Given the description of an element on the screen output the (x, y) to click on. 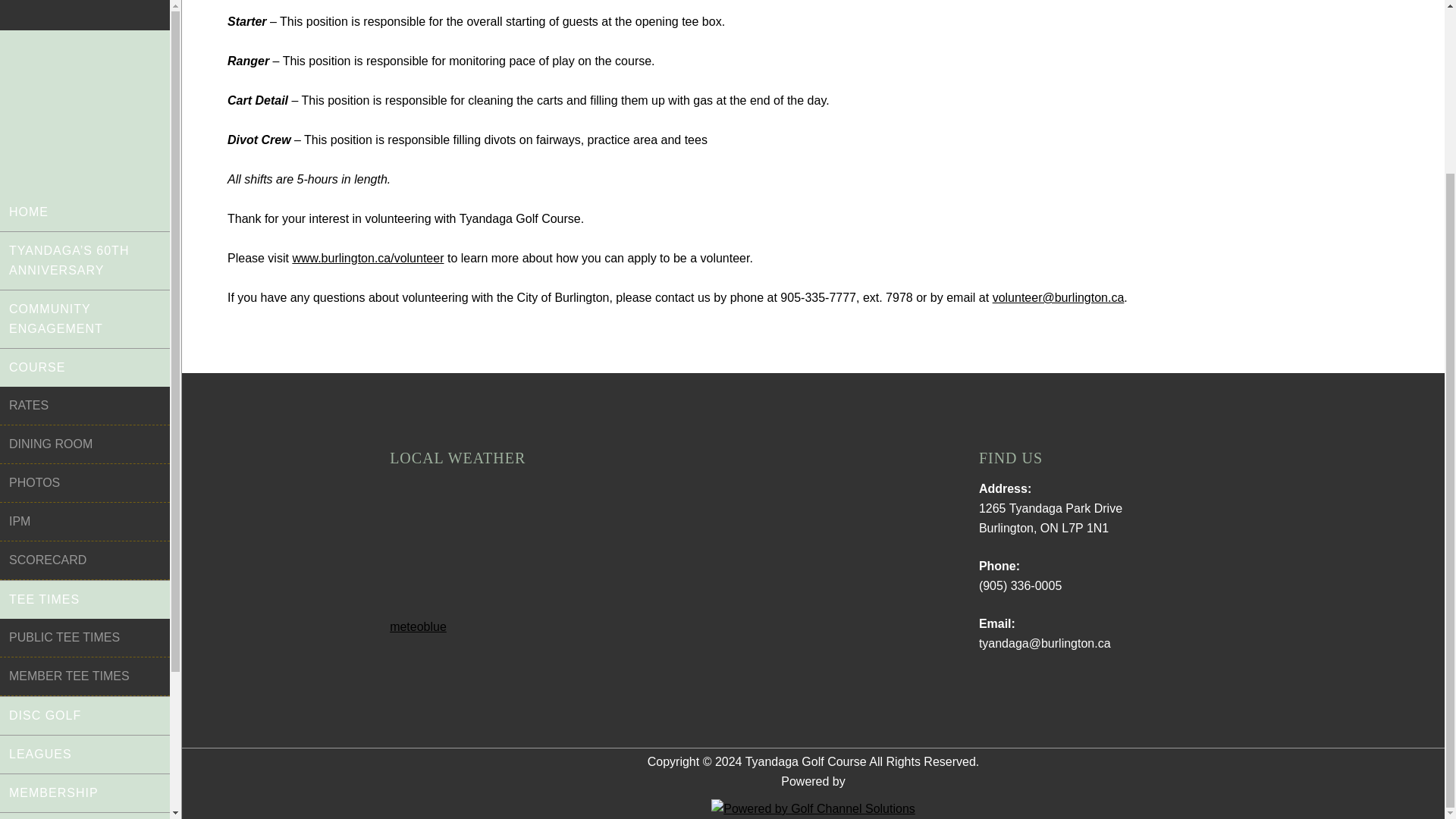
HOME (85, 11)
SPONSORSHIP (85, 719)
CONTACT US (85, 758)
PHOTOS (85, 273)
COMMUNITY ENGAGEMENT (85, 109)
IPM (85, 312)
PUBLIC TEE TIMES (85, 428)
DINING ROOM (85, 235)
meteoblue (418, 626)
RATES (85, 196)
